Given the description of an element on the screen output the (x, y) to click on. 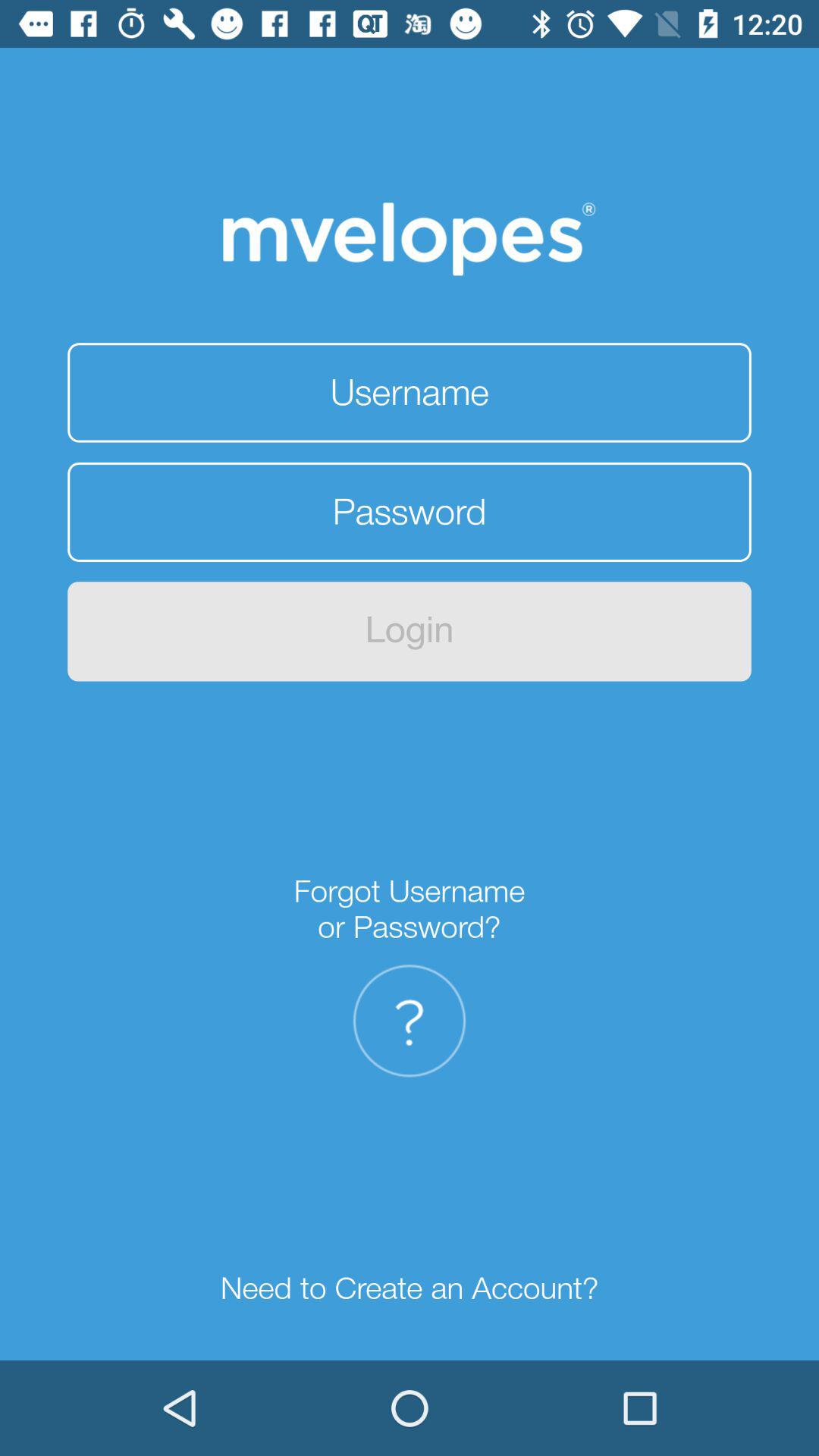
select the icon below login icon (409, 909)
